Given the description of an element on the screen output the (x, y) to click on. 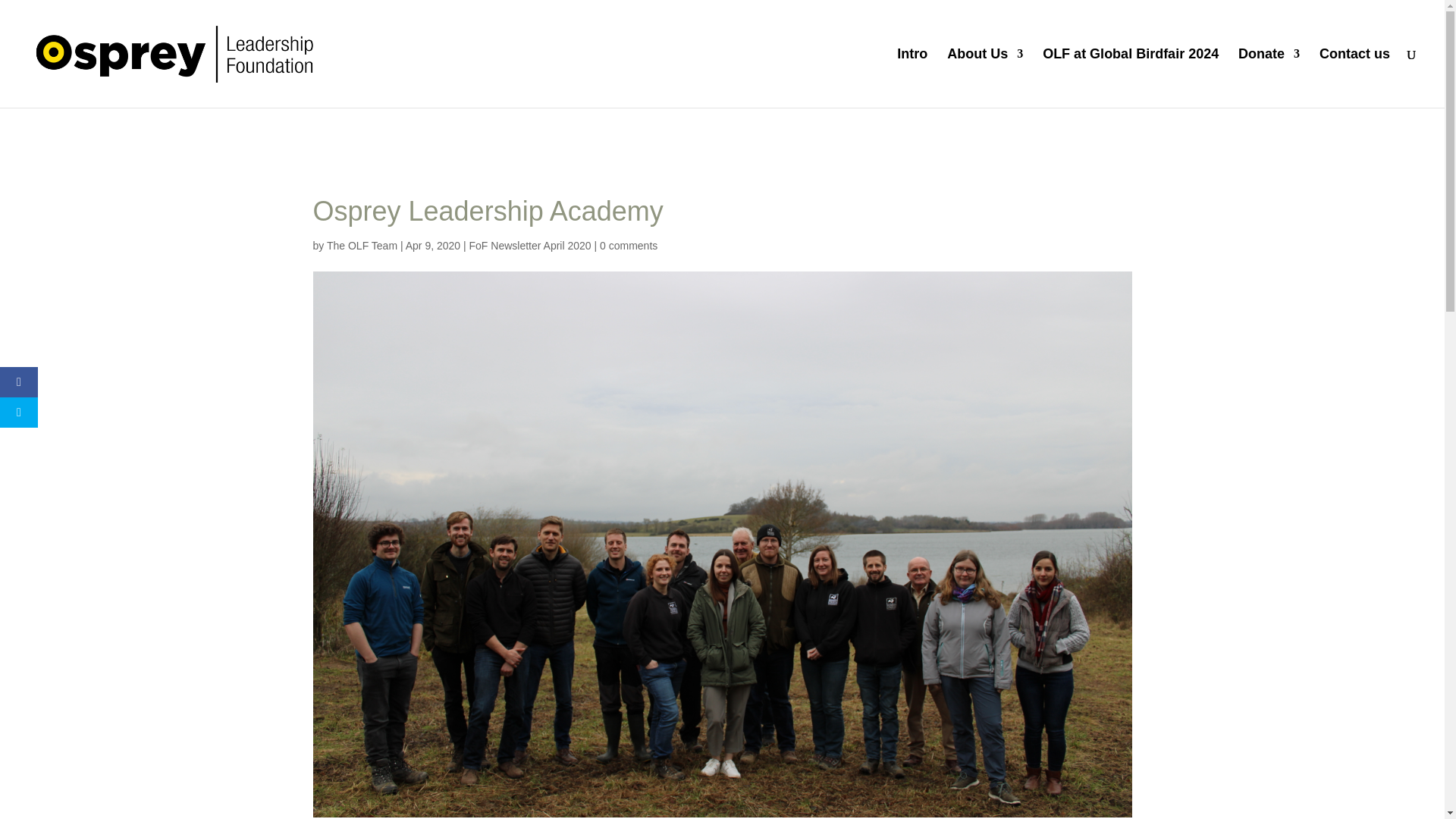
About Us (985, 77)
The OLF Team (361, 245)
0 comments (628, 245)
FoF Newsletter April 2020 (529, 245)
Donate (1269, 77)
OLF at Global Birdfair 2024 (1130, 77)
Posts by The OLF Team (361, 245)
Contact us (1354, 77)
